Given the description of an element on the screen output the (x, y) to click on. 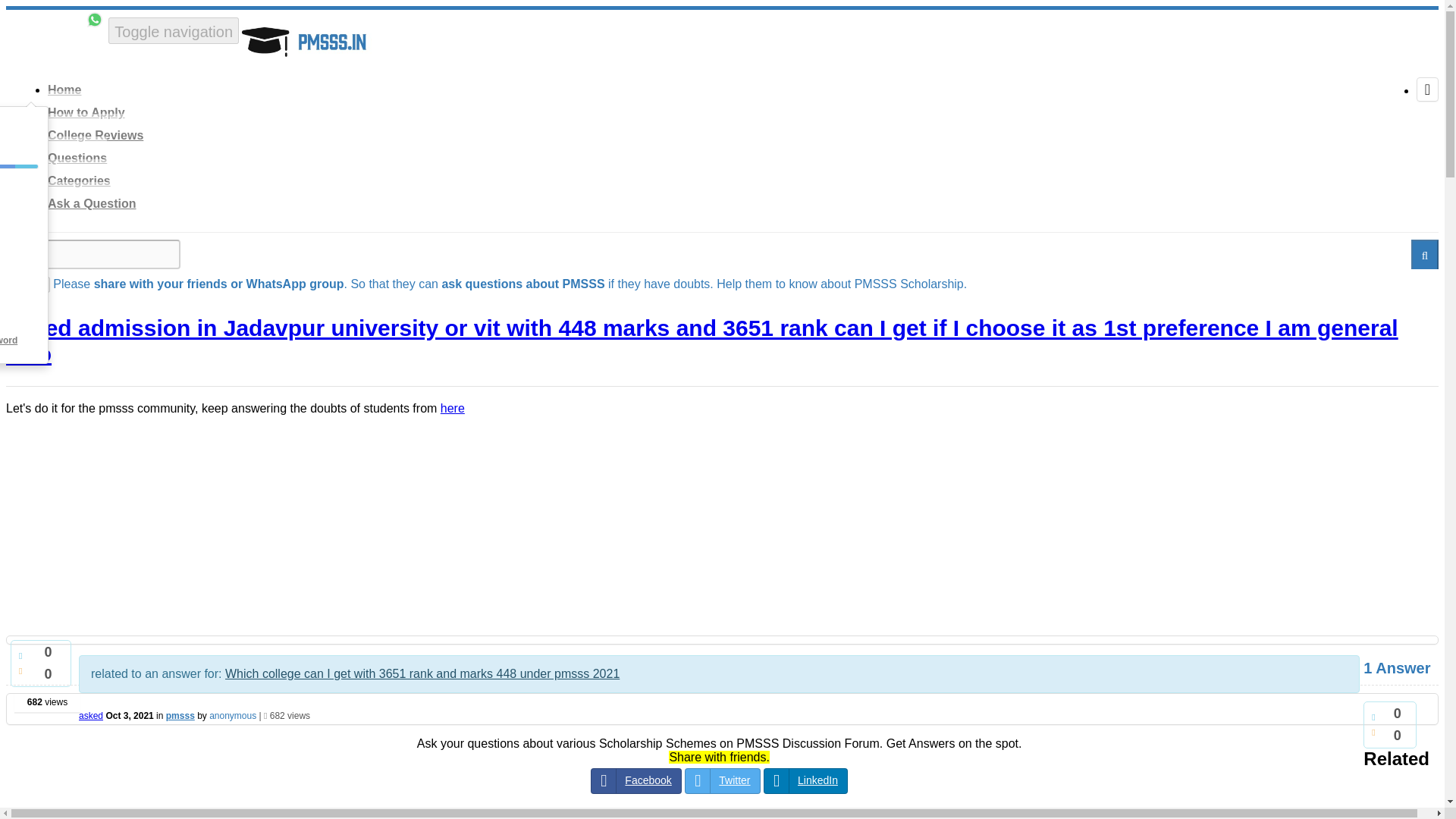
Ask a question (53, 23)
Facebook (636, 780)
Categories (79, 180)
LinkedIn (804, 780)
Facebook (636, 780)
LinkedIn (804, 780)
College Reviews (95, 135)
Join Telegram Channel (1316, 18)
Twitter (722, 780)
Twitter (722, 780)
asked (90, 715)
How to Apply (86, 112)
here (452, 408)
